Given the description of an element on the screen output the (x, y) to click on. 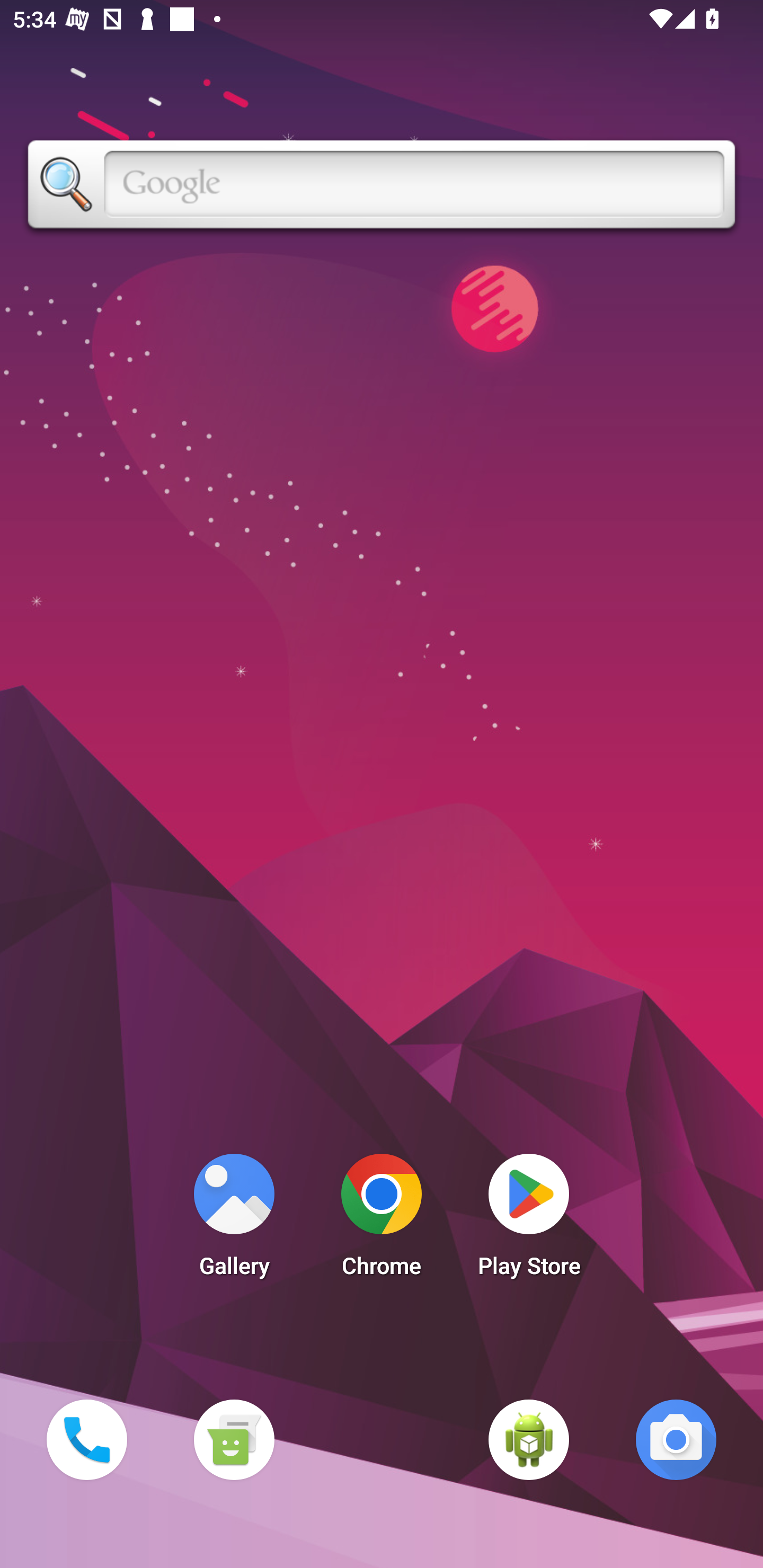
Gallery (233, 1220)
Chrome (381, 1220)
Play Store (528, 1220)
Phone (86, 1439)
Messaging (233, 1439)
WebView Browser Tester (528, 1439)
Camera (676, 1439)
